Given the description of an element on the screen output the (x, y) to click on. 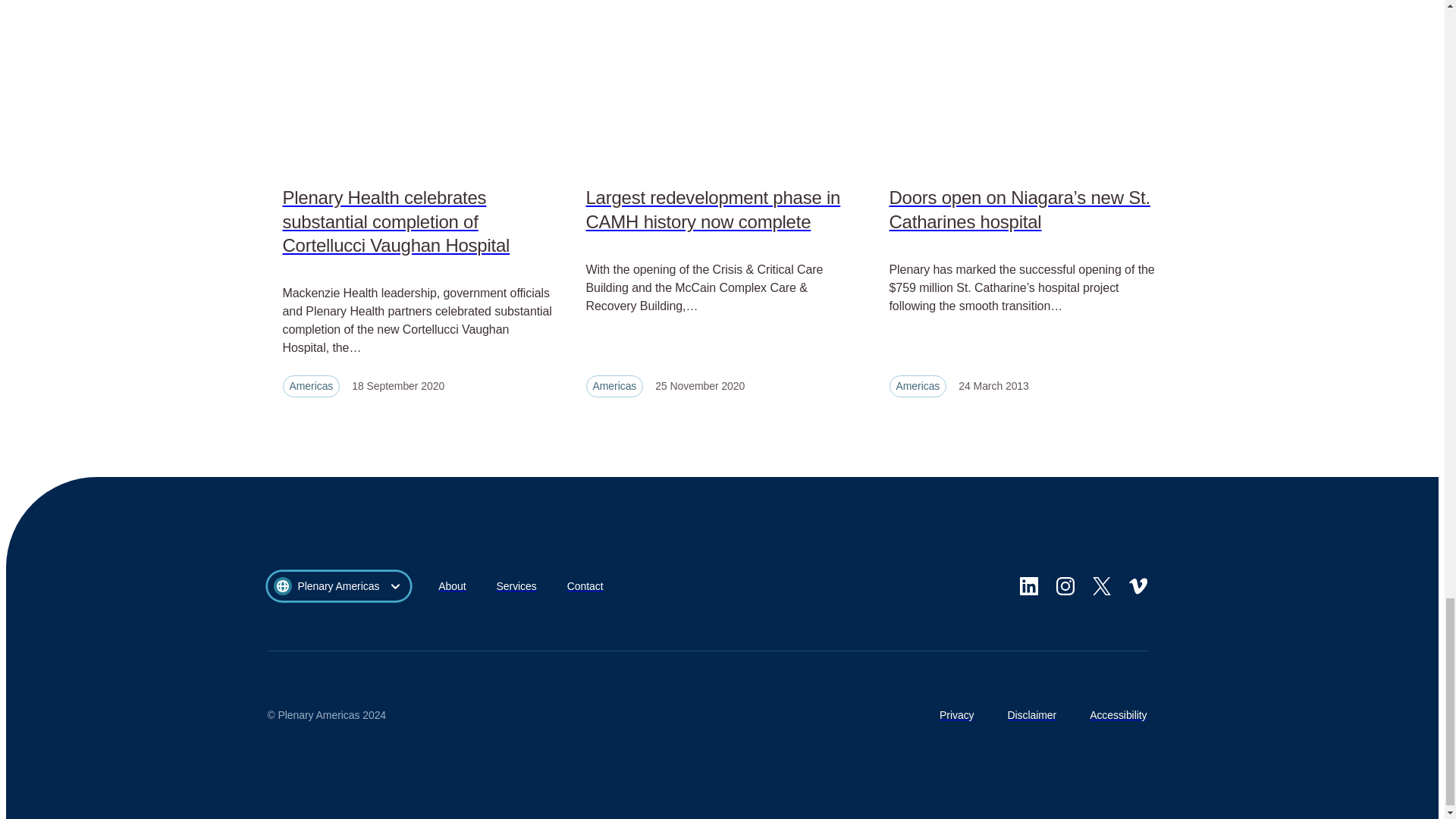
Services (516, 586)
Privacy (956, 714)
Accessibility (1118, 714)
Disclaimer (1032, 714)
Largest redevelopment phase in CAMH history now complete (722, 209)
Contact (585, 586)
About (451, 586)
